Given the description of an element on the screen output the (x, y) to click on. 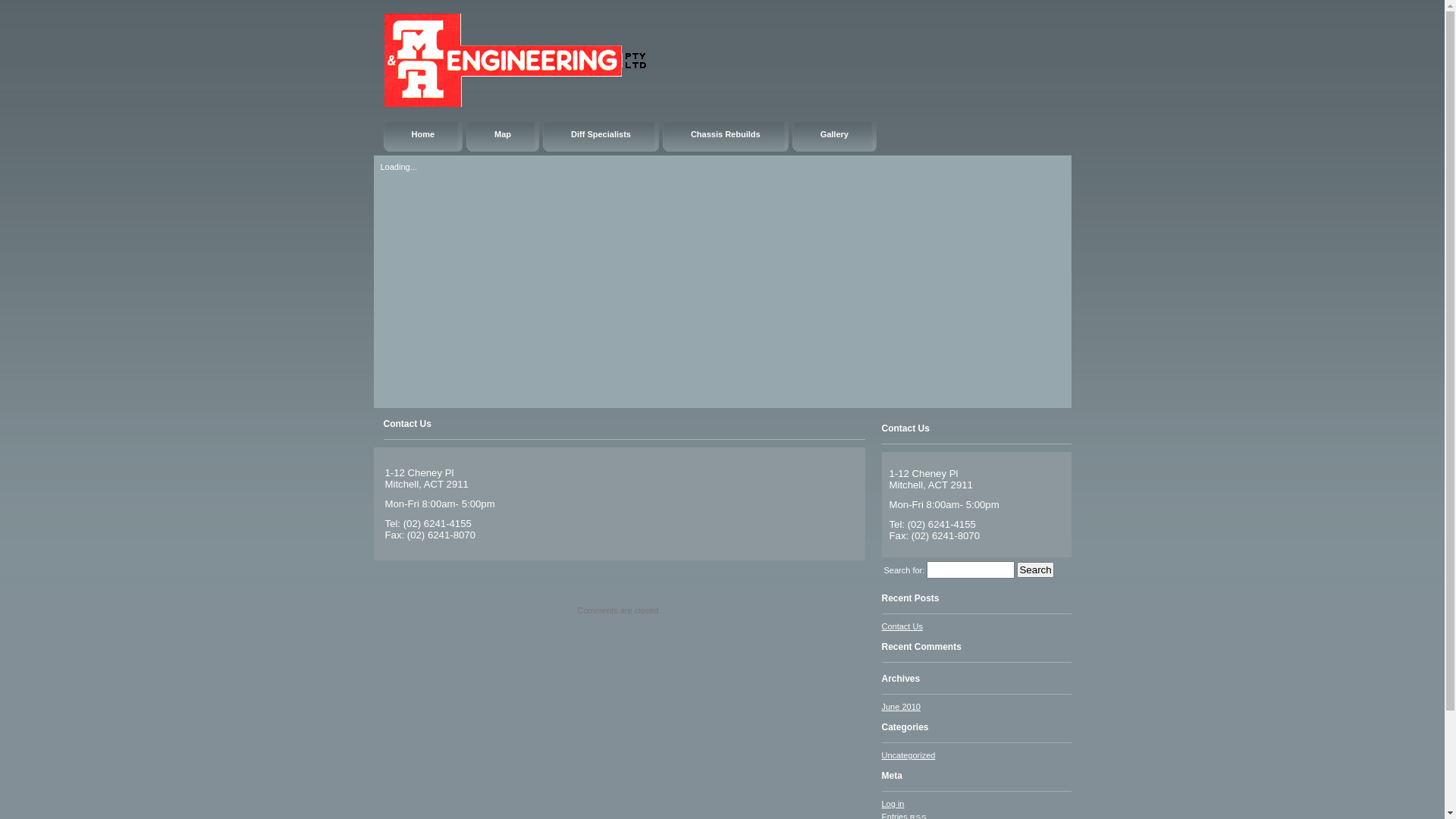
June 2010 Element type: text (900, 706)
Map Element type: text (502, 136)
Home Element type: text (423, 136)
Contact Us Element type: text (901, 625)
Search Element type: text (1034, 569)
Diff Specialists Element type: text (600, 136)
Uncategorized Element type: text (908, 754)
Gallery Element type: text (834, 136)
Log in Element type: text (892, 803)
Chassis Rebuilds Element type: text (725, 136)
